Given the description of an element on the screen output the (x, y) to click on. 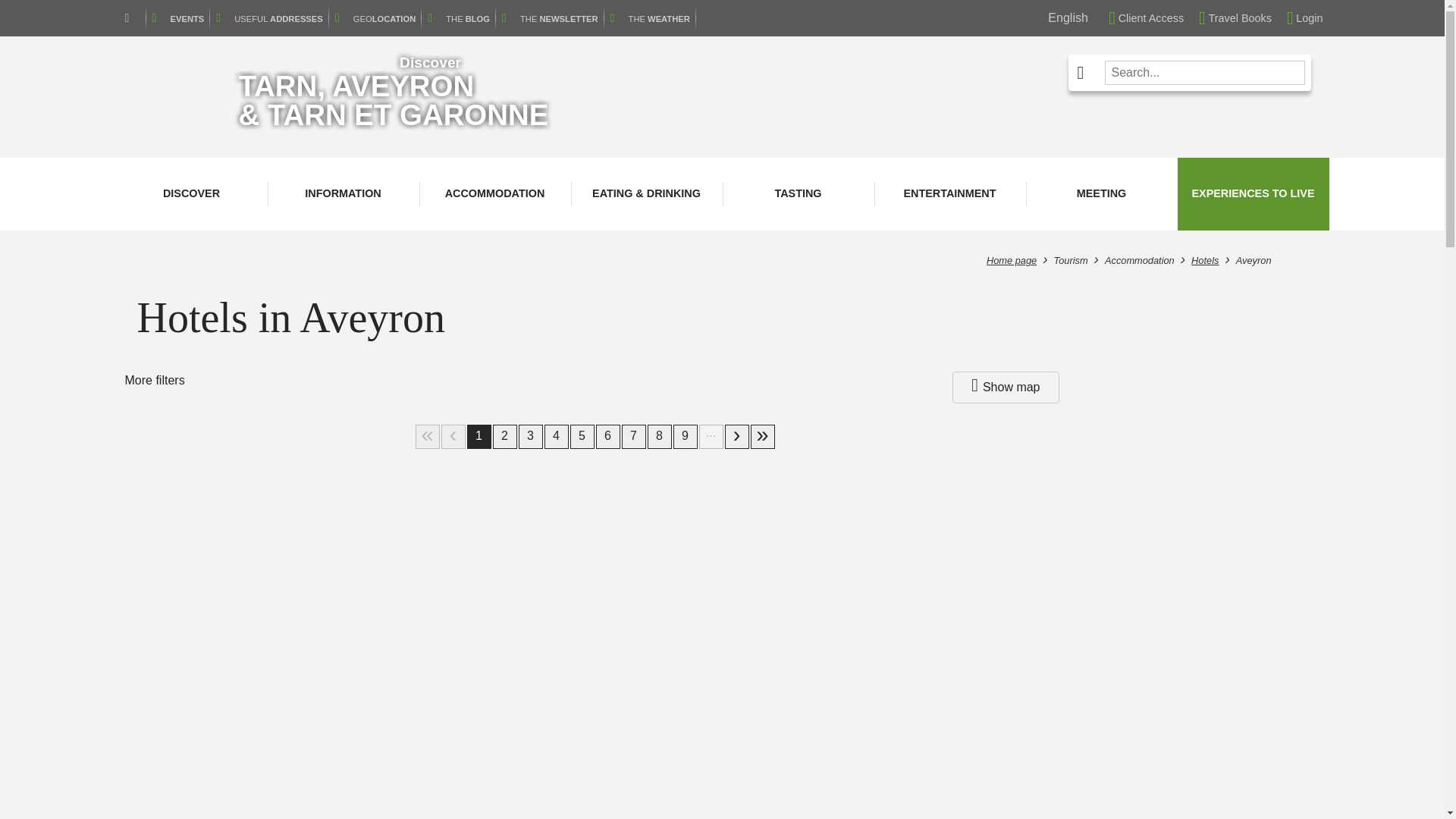
THE BLOG (459, 18)
Page 1 (479, 436)
THE WEATHER (649, 18)
Client Access (1145, 18)
EVENTS (177, 18)
THE NEWSLETTER (550, 18)
Page 6 (607, 436)
Page suivante (737, 436)
USEFUL ADDRESSES (269, 18)
2 (737, 436)
